Given the description of an element on the screen output the (x, y) to click on. 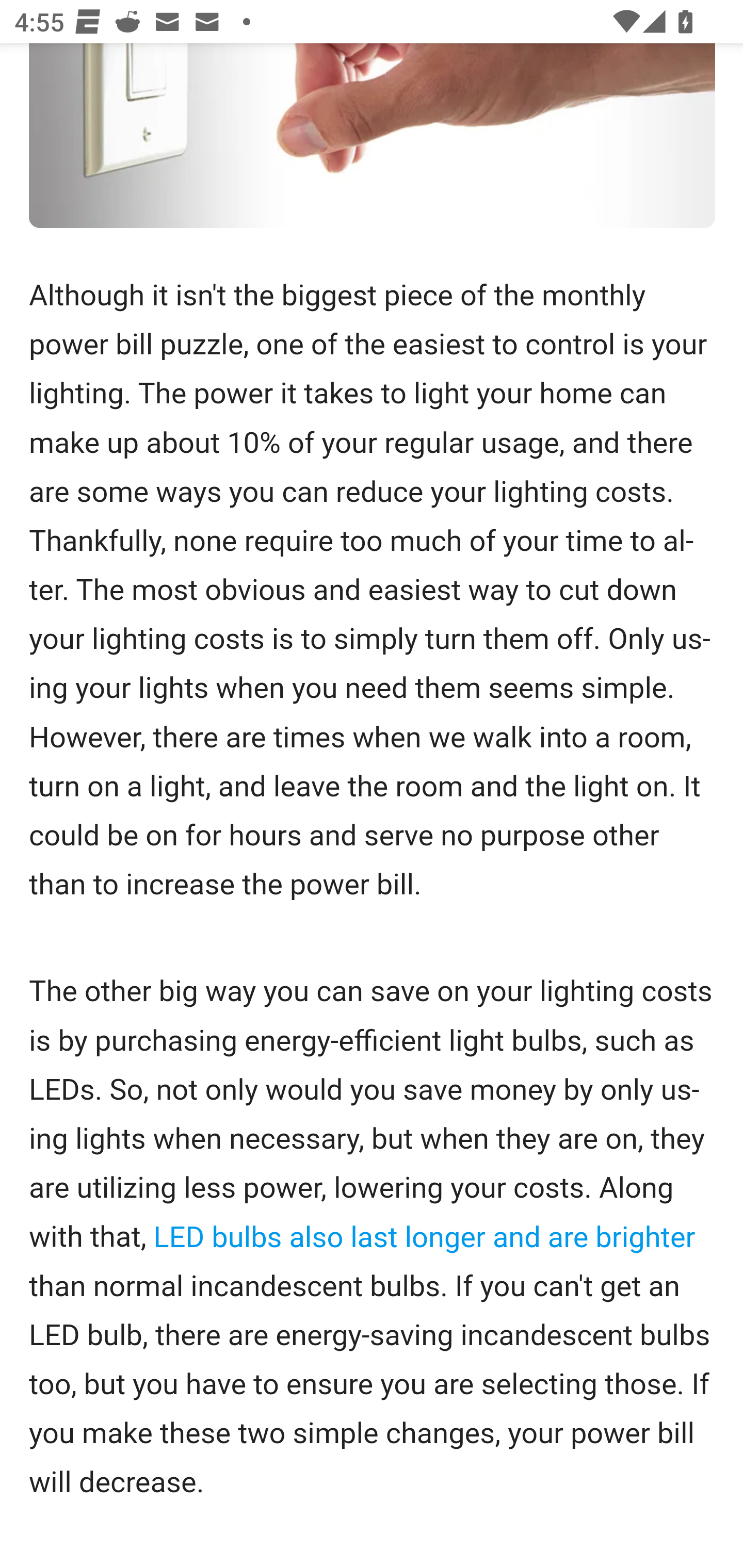
LED bulbs also last longer and are brighter (423, 1238)
